Given the description of an element on the screen output the (x, y) to click on. 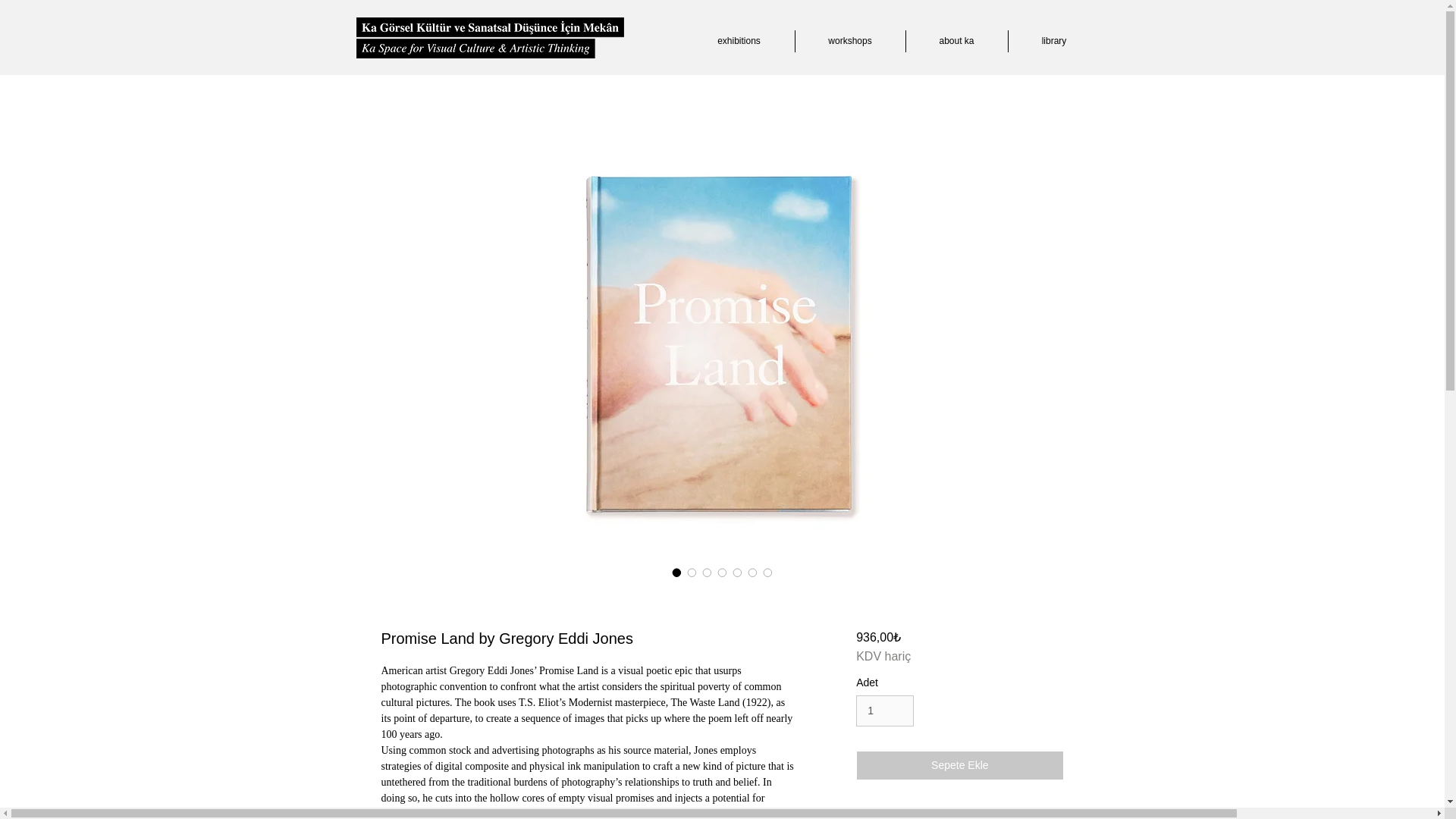
Sepete Ekle (959, 765)
kalogofont-06.png (490, 37)
about ka (956, 41)
library (1054, 41)
workshops (849, 41)
exhibitions (739, 41)
1 (885, 710)
